Given the description of an element on the screen output the (x, y) to click on. 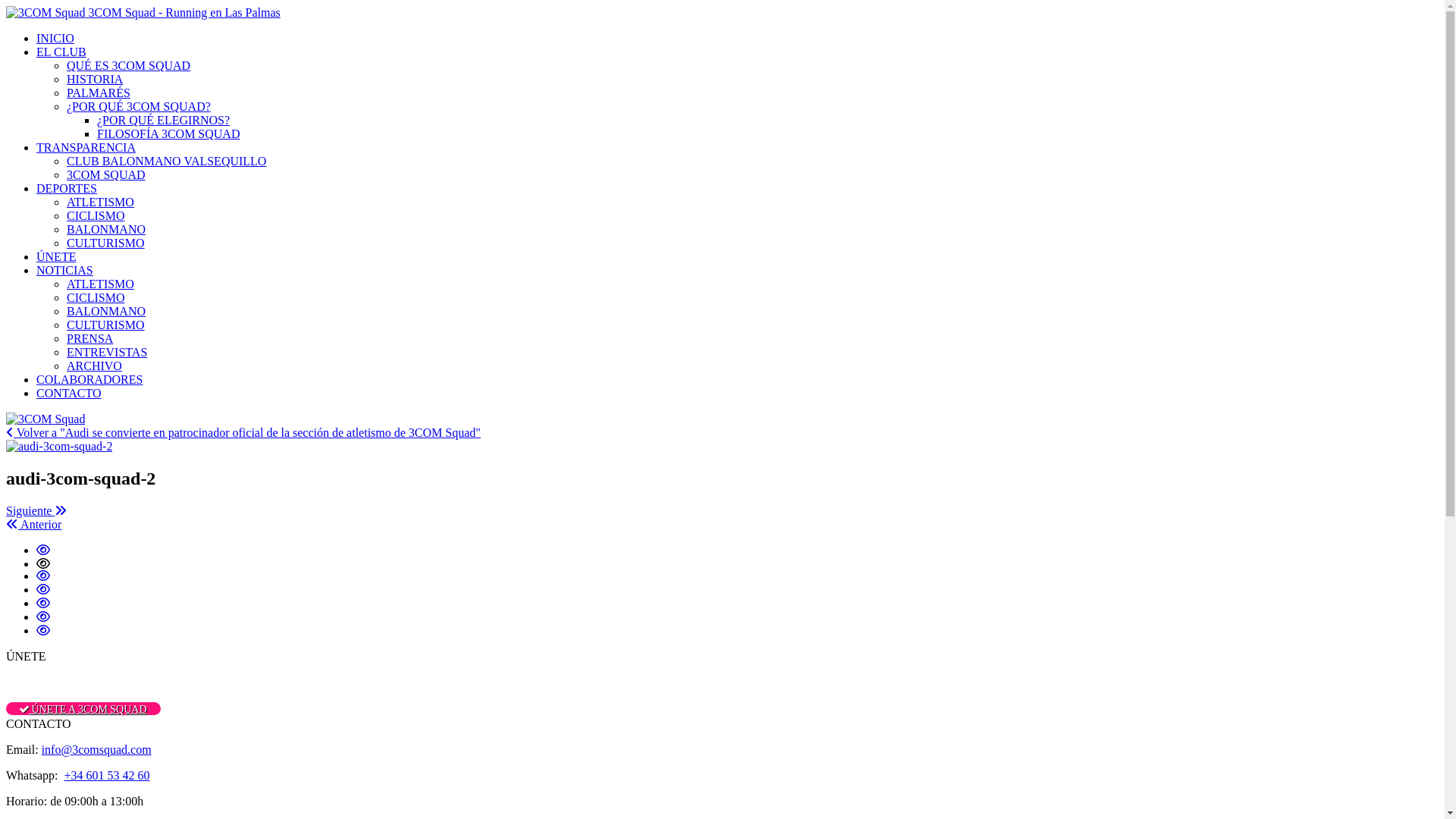
DEPORTES Element type: text (66, 188)
INICIO Element type: text (55, 37)
HISTORIA Element type: text (94, 78)
CULTURISMO Element type: text (105, 324)
ENTREVISTAS Element type: text (106, 351)
audi-3com-squad-2 Element type: hover (737, 563)
ATLETISMO Element type: text (100, 201)
audi-3com-squad-2 Element type: hover (43, 602)
audi-3com-squad-2 Element type: hover (43, 589)
info@3comsquad.com Element type: text (96, 749)
audi-3com-squad-2 Element type: hover (43, 575)
CICLISMO Element type: text (95, 297)
CICLISMO Element type: text (95, 215)
audi-3com-squad-2 Element type: hover (43, 549)
BALONMANO Element type: text (105, 310)
ARCHIVO Element type: text (94, 365)
audi-3com-squad-2 Element type: hover (43, 616)
audi-3com-squad-2 Element type: hover (43, 630)
CULTURISMO Element type: text (105, 242)
Siguiente Element type: text (36, 510)
PRENSA Element type: text (89, 338)
CONTACTO Element type: text (68, 392)
NOTICIAS Element type: text (64, 269)
CLUB BALONMANO VALSEQUILLO Element type: text (166, 160)
Anterior Element type: text (33, 523)
ATLETISMO Element type: text (100, 283)
3COM Squad - Running en Las Palmas Element type: text (143, 12)
EL CLUB Element type: text (61, 51)
+34 601 53 42 60 Element type: text (106, 774)
COLABORADORES Element type: text (89, 379)
TRANSPARENCIA Element type: text (85, 147)
3COM SQUAD Element type: text (105, 174)
BALONMANO Element type: text (105, 228)
